Given the description of an element on the screen output the (x, y) to click on. 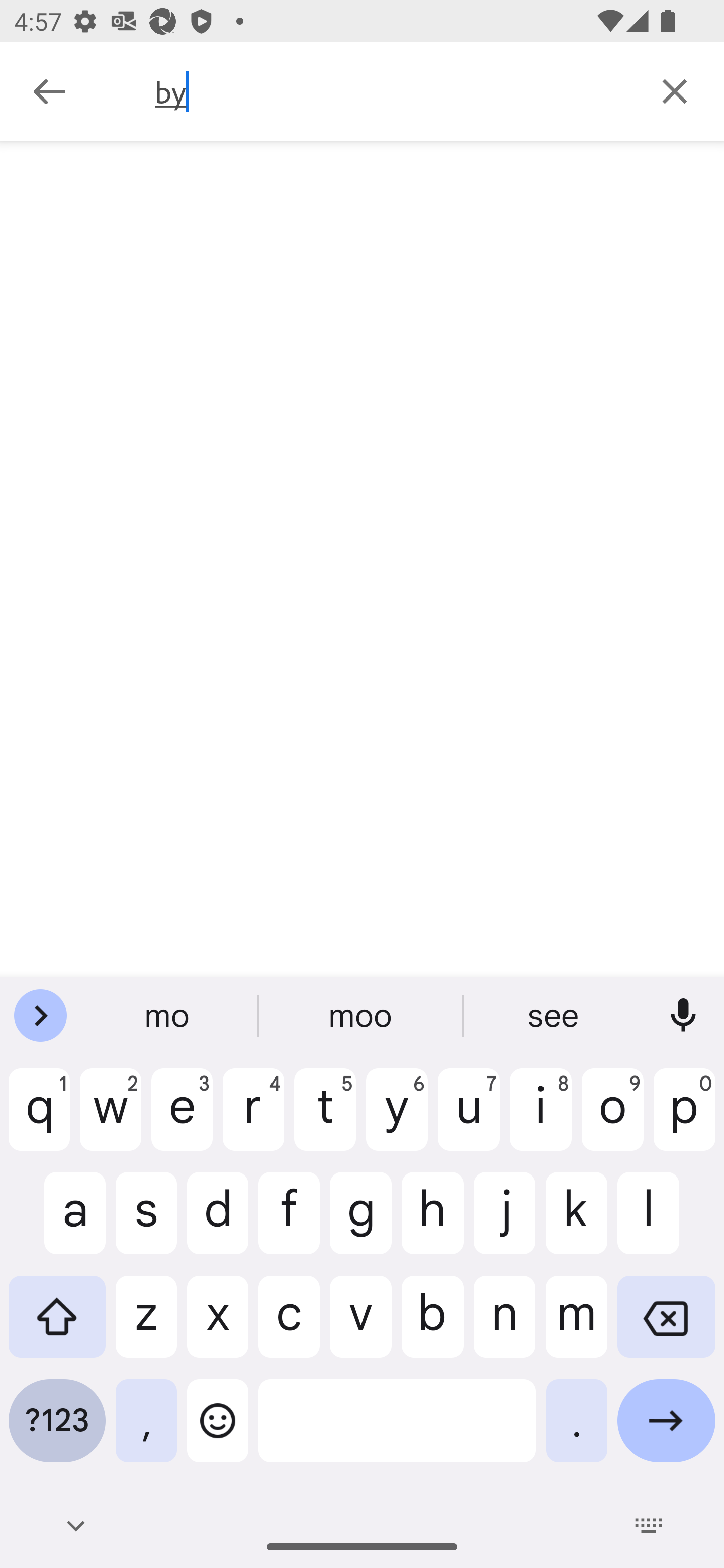
Navigate up (49, 91)
Clear query (674, 90)
by (389, 91)
